Given the description of an element on the screen output the (x, y) to click on. 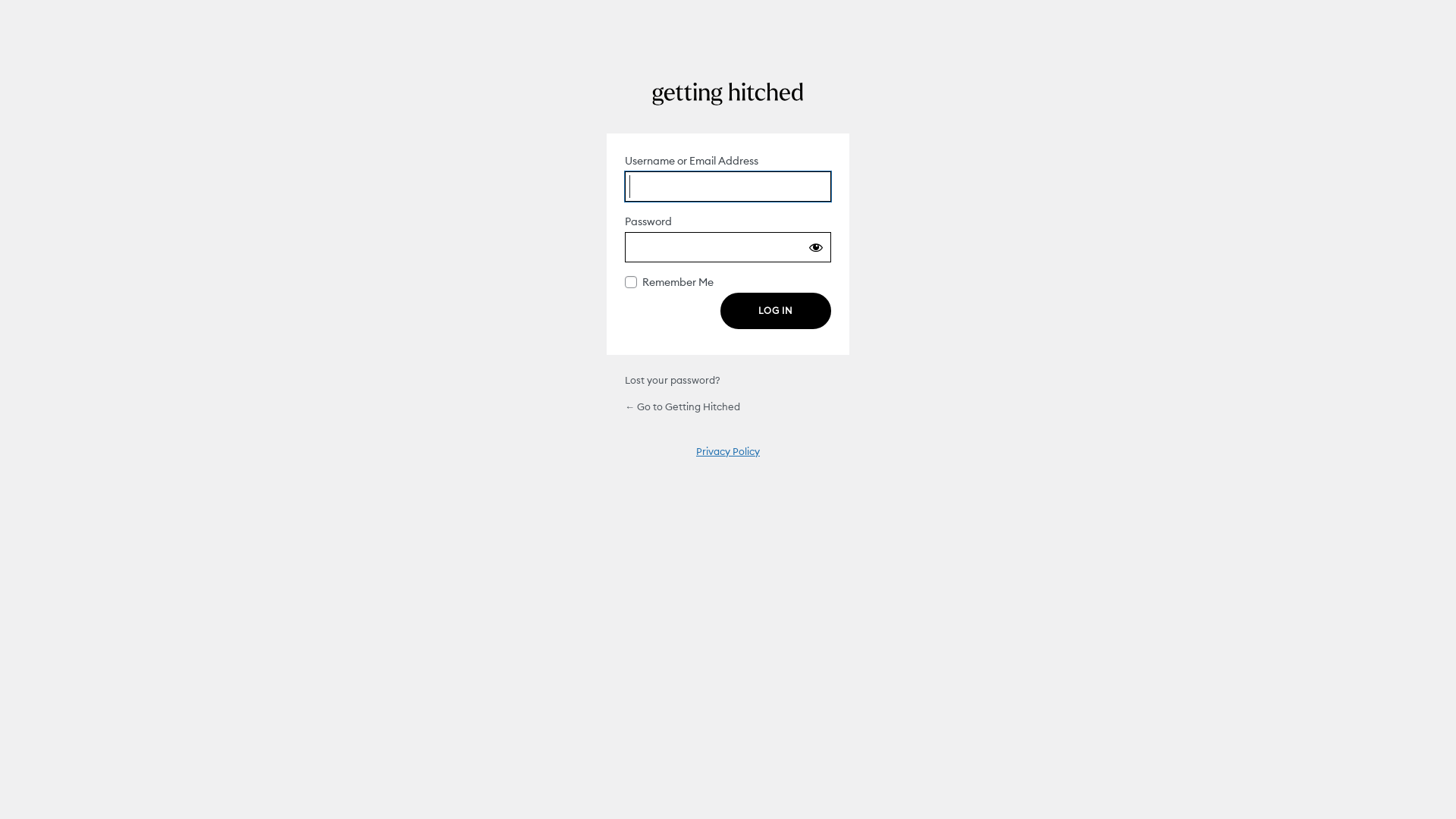
Lost your password? Element type: text (672, 379)
Powered by WordPress Element type: text (727, 93)
Log In Element type: text (775, 310)
Privacy Policy Element type: text (727, 451)
